Given the description of an element on the screen output the (x, y) to click on. 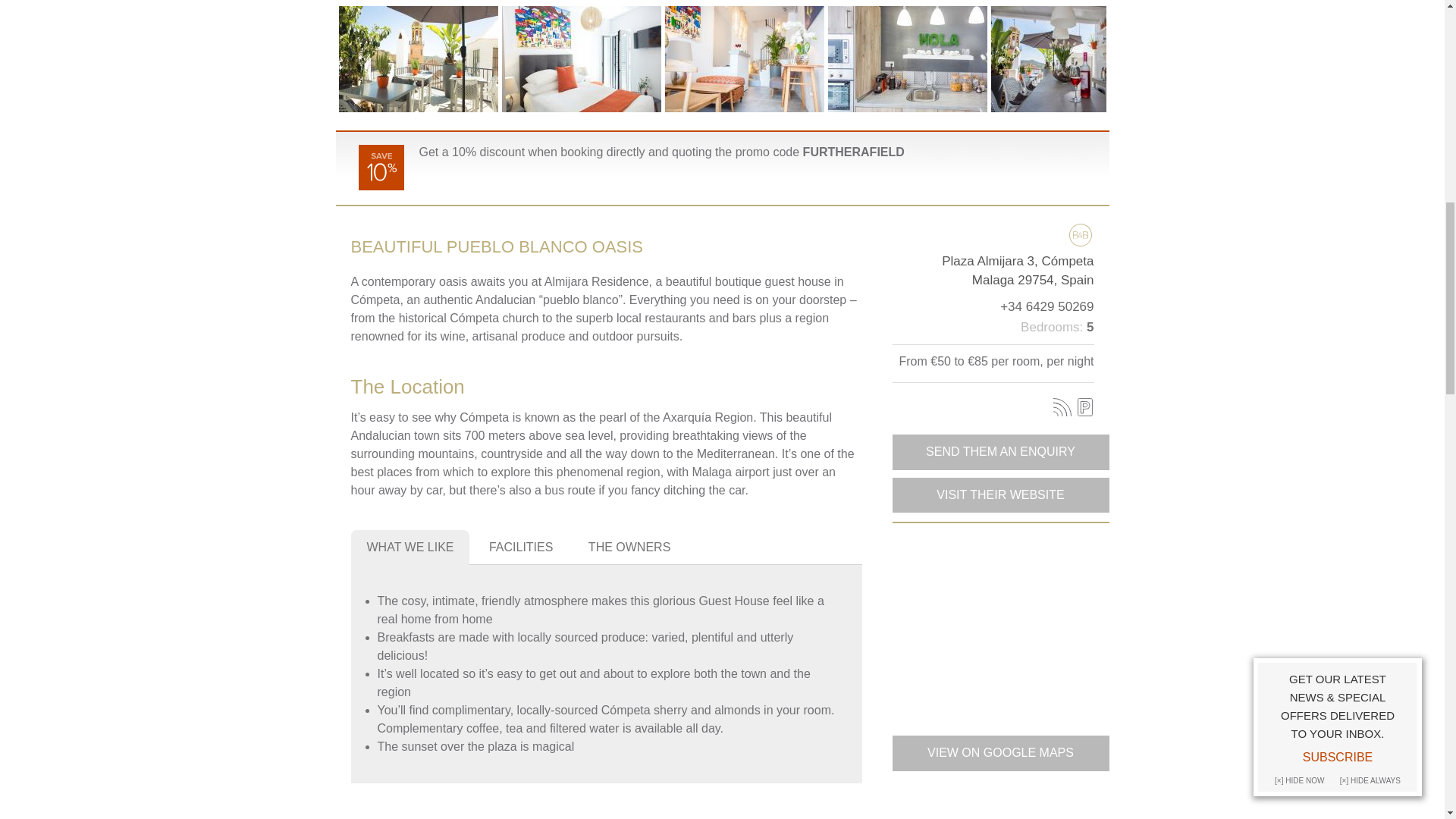
THE OWNERS (628, 547)
VIEW ON GOOGLE MAPS (999, 752)
Parking (1084, 407)
SEND THEM AN ENQUIRY (999, 451)
FACILITIES (521, 547)
WHAT WE LIKE (409, 547)
VISIT THEIR WEBSITE (999, 494)
WiFi (1061, 407)
